Given the description of an element on the screen output the (x, y) to click on. 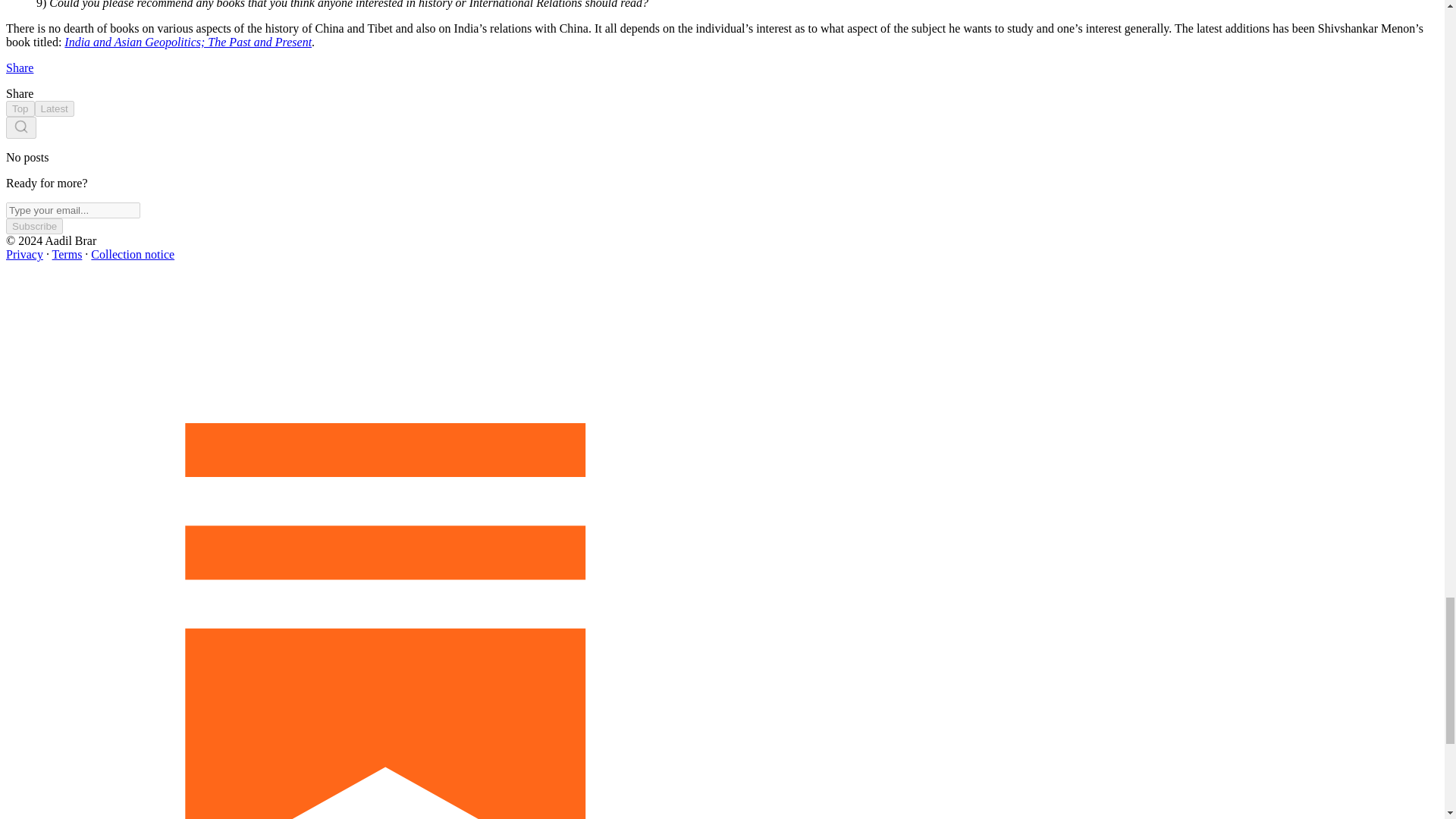
Latest (54, 108)
Collection notice (132, 254)
India and Asian Geopolitics; The Past and Present (187, 42)
Share (19, 67)
Terms (67, 254)
Privacy (24, 254)
Top (19, 108)
Subscribe (33, 226)
